Given the description of an element on the screen output the (x, y) to click on. 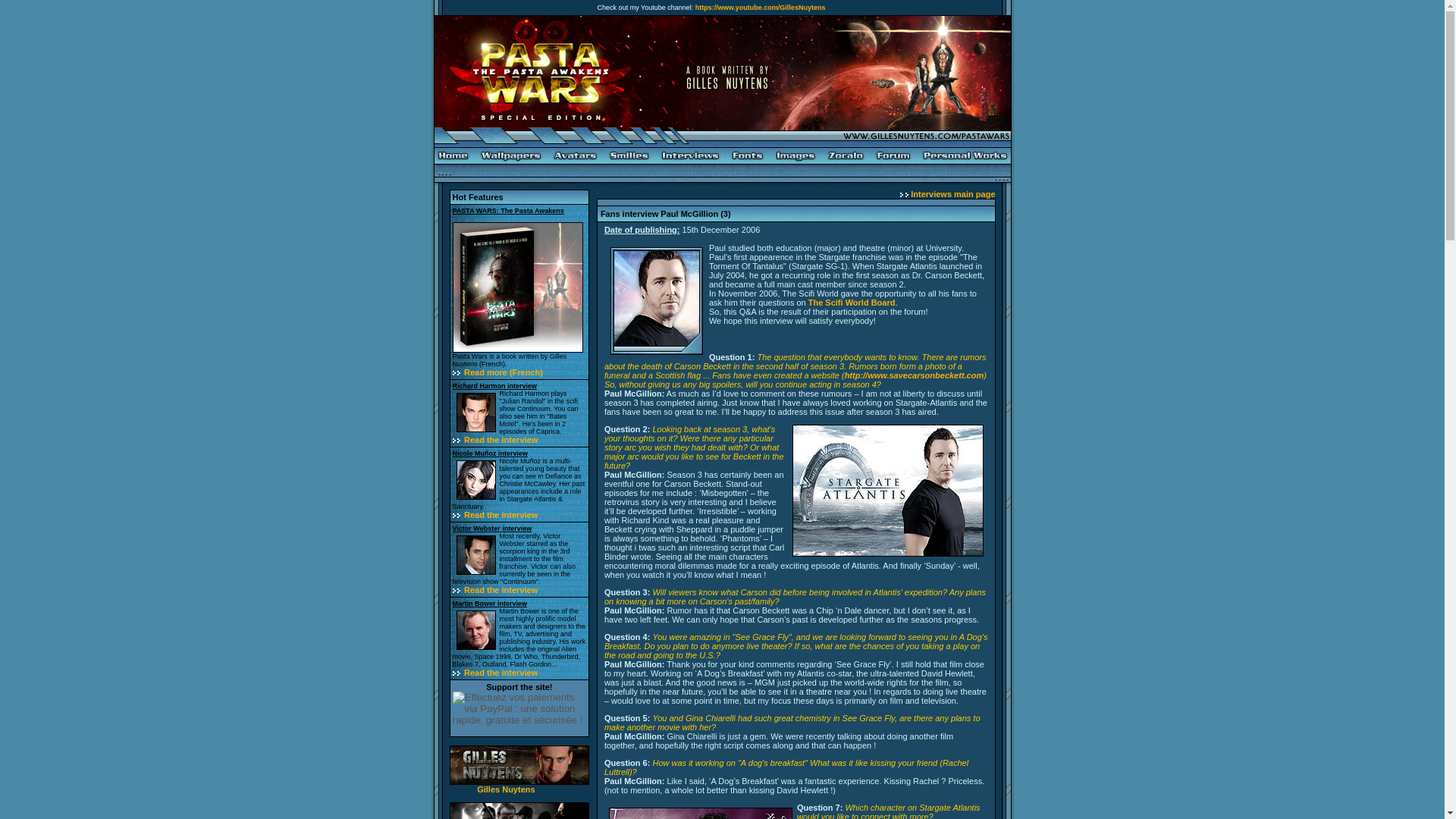
Read the interview (500, 439)
Read the interview (500, 672)
The Scifi World Board (851, 302)
Read the interview (500, 589)
Gilles Nuytens (505, 788)
Read the interview (500, 514)
Gilles Nuytens (505, 788)
Interviews main page (952, 194)
Gilles Nuytens (518, 781)
